Given the description of an element on the screen output the (x, y) to click on. 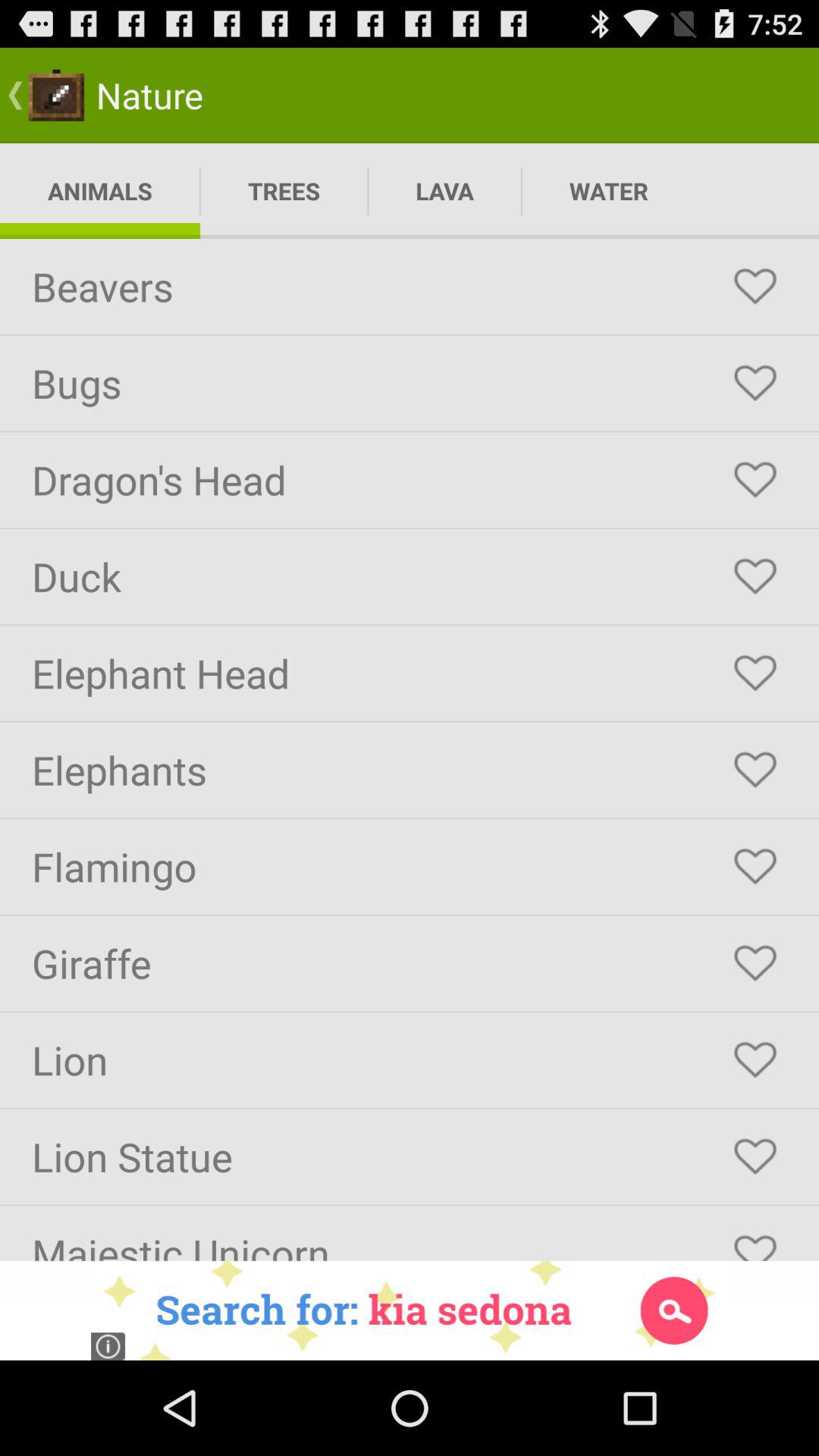
save as favorite (755, 1060)
